Given the description of an element on the screen output the (x, y) to click on. 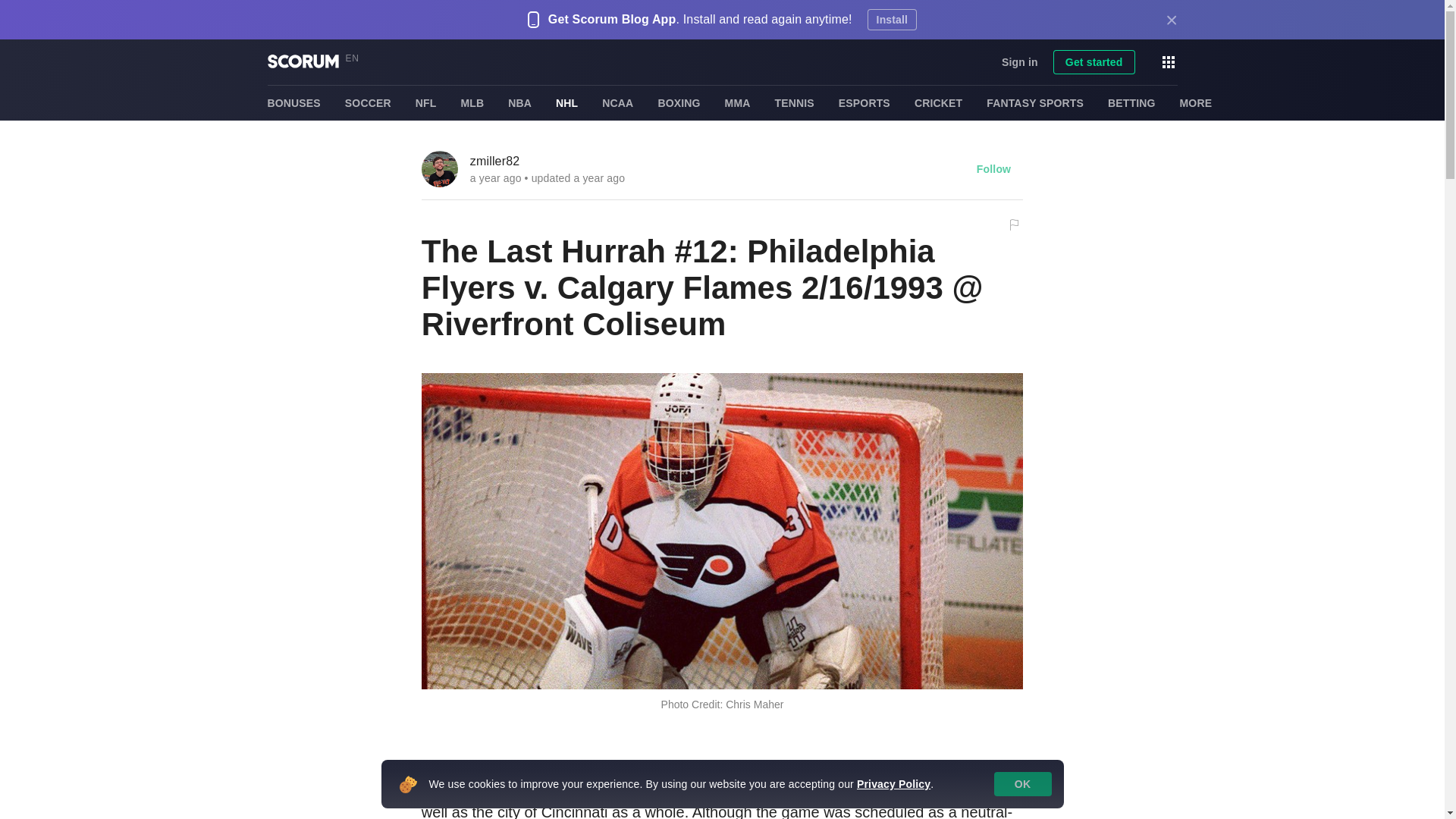
Sign in (1019, 61)
Install and read again anytime! (766, 19)
2023-02-16 22:21 (495, 177)
Get started (1093, 61)
OK (1021, 784)
Install (892, 19)
Get Scorum Blog App (612, 19)
Privacy Policy (893, 783)
EN (357, 59)
2023-02-17 13:45 (598, 177)
Install (892, 19)
